Given the description of an element on the screen output the (x, y) to click on. 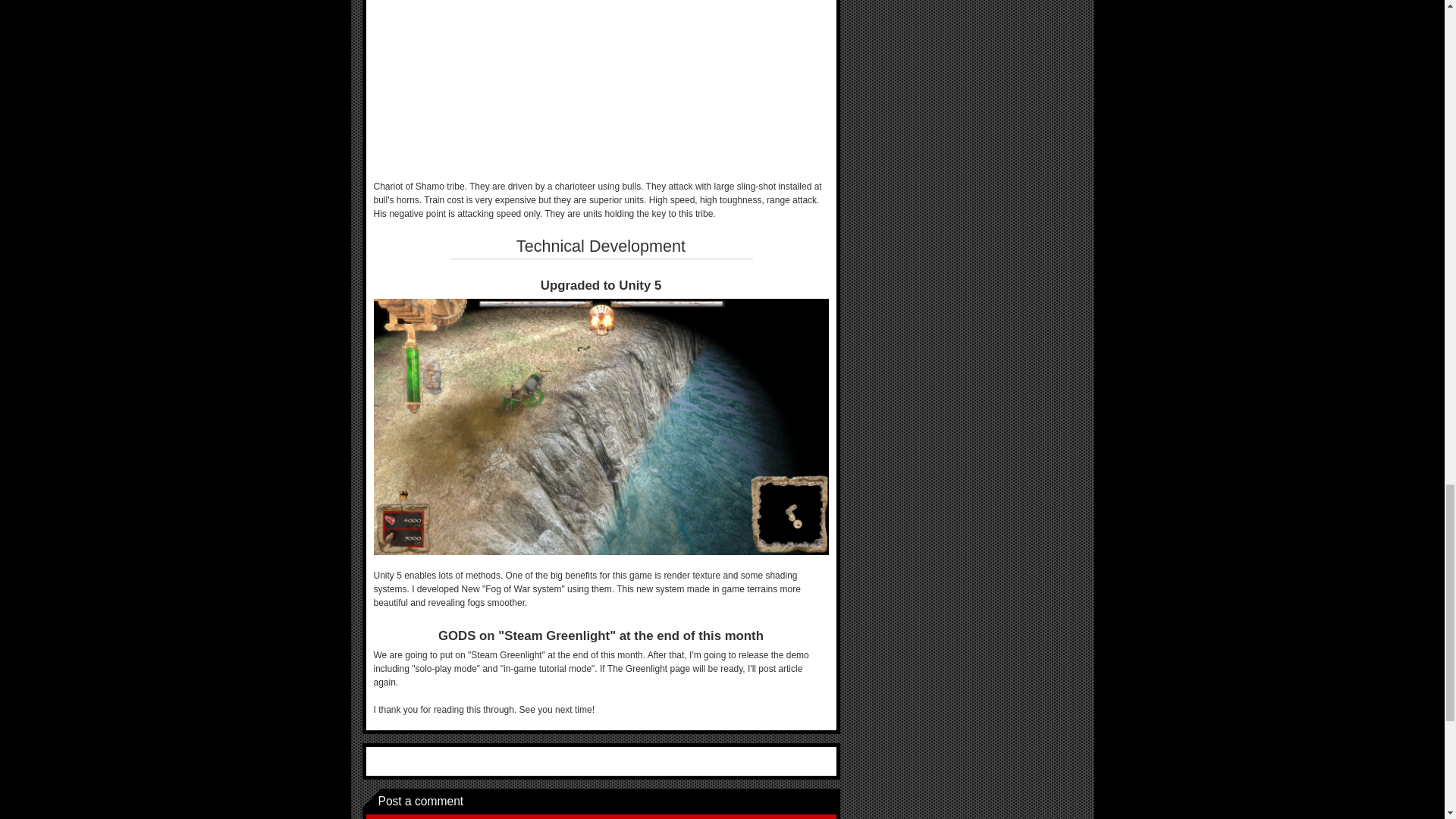
New Fow - Indie DB (600, 425)
